Given the description of an element on the screen output the (x, y) to click on. 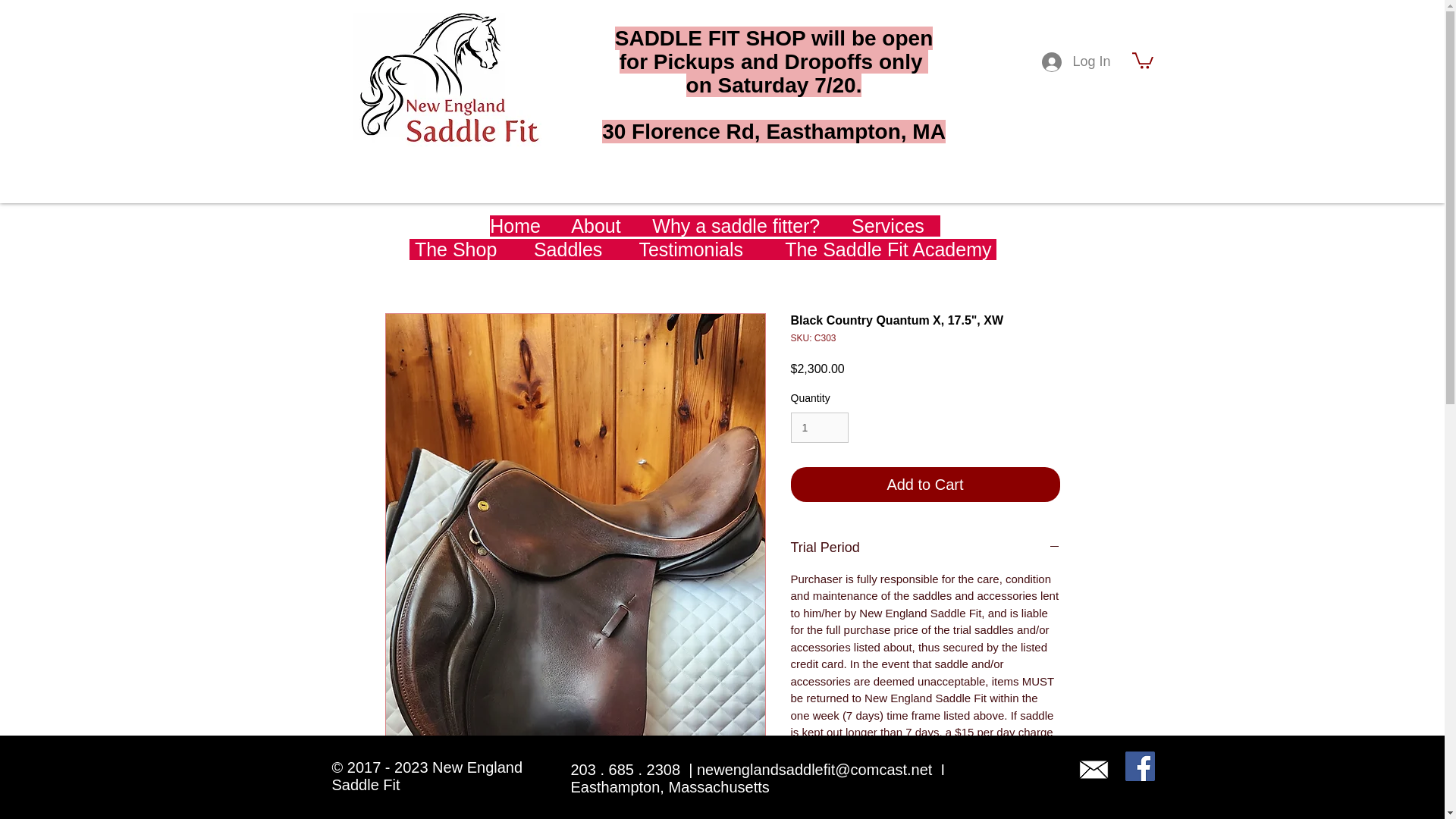
Saddles (568, 249)
Home (514, 225)
ervices  (897, 225)
Why a saddle fitter?  (740, 225)
 The Shop (452, 249)
Log In (1075, 61)
bout  (604, 225)
Add to Cart (924, 484)
1 (818, 427)
The Saddle Fit Academy (887, 249)
estimonials         (715, 249)
Trial Period (924, 547)
